Given the description of an element on the screen output the (x, y) to click on. 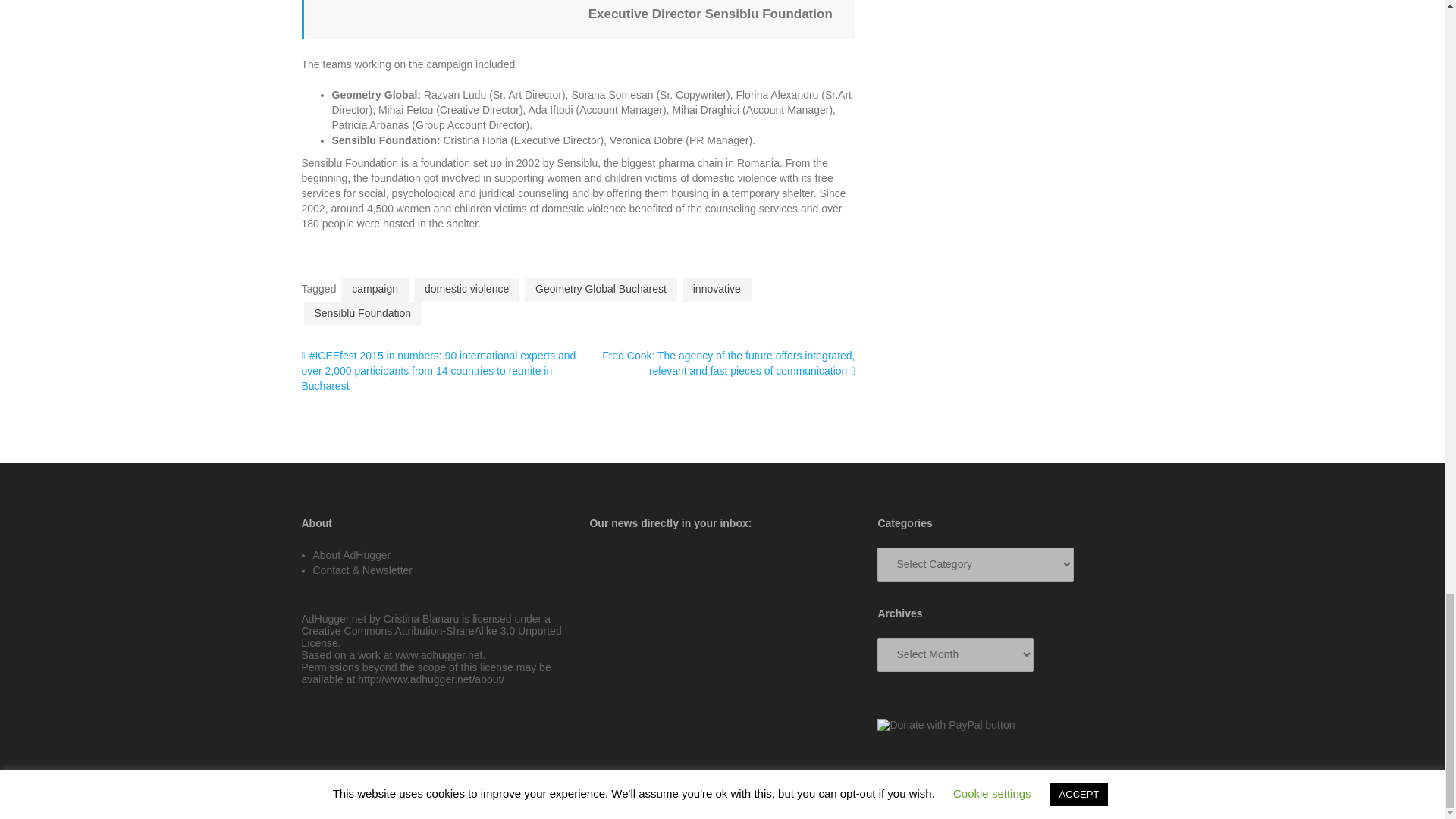
PayPal - The safer, easier way to pay online! (945, 725)
